Given the description of an element on the screen output the (x, y) to click on. 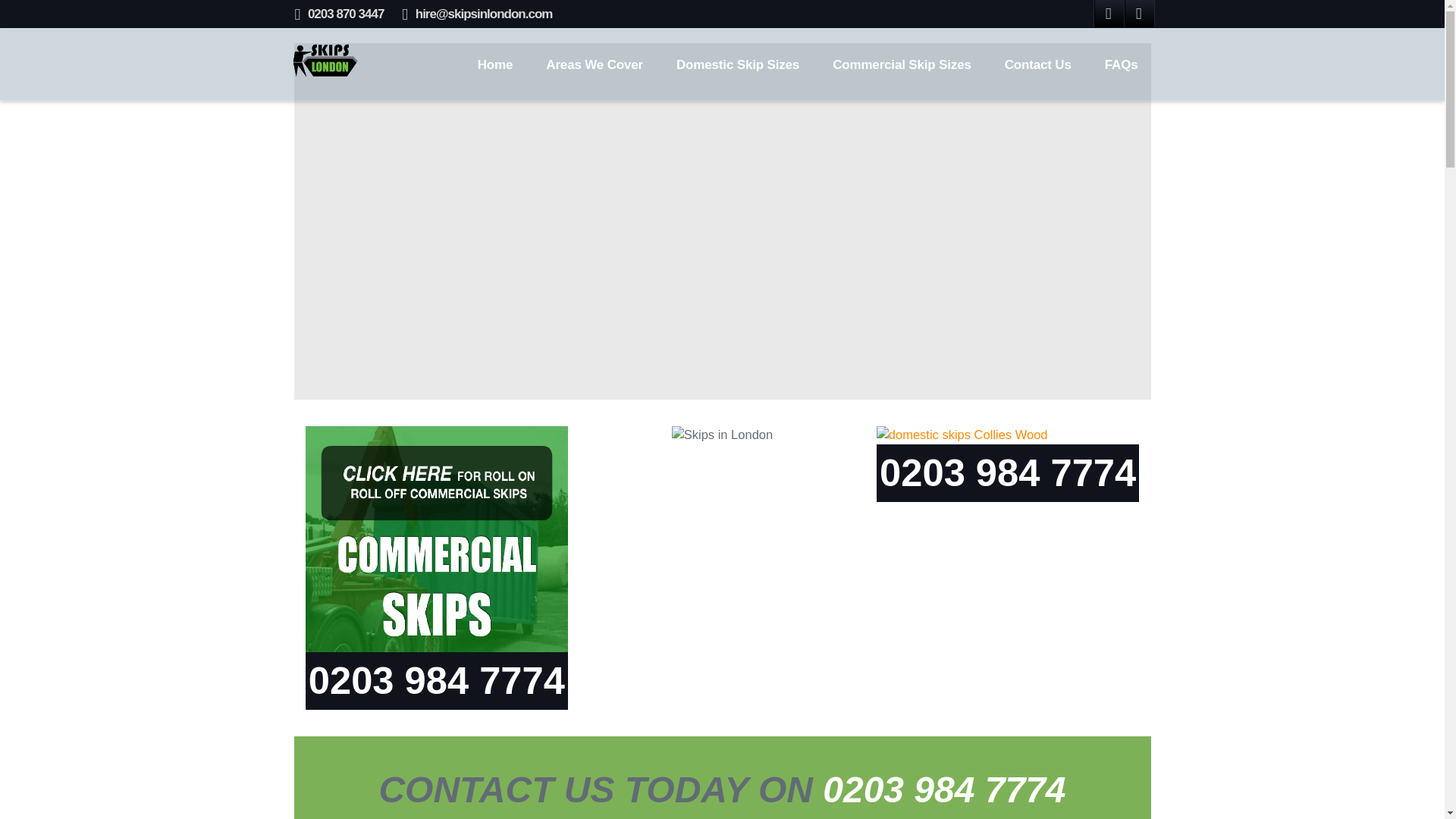
Contact Us (1037, 63)
Contact Us (1037, 63)
Home (495, 63)
FAQs (1120, 63)
Twitter (1139, 13)
0203 984 7774 (943, 789)
Home (495, 63)
Domestic Skip Sizes (737, 63)
Areas We Cover (594, 63)
Domestic Skip Sizes (737, 63)
0203 870 3447 (345, 13)
Facebook (1108, 13)
FAQs (1120, 63)
Commercial Skip Sizes (901, 63)
